Given the description of an element on the screen output the (x, y) to click on. 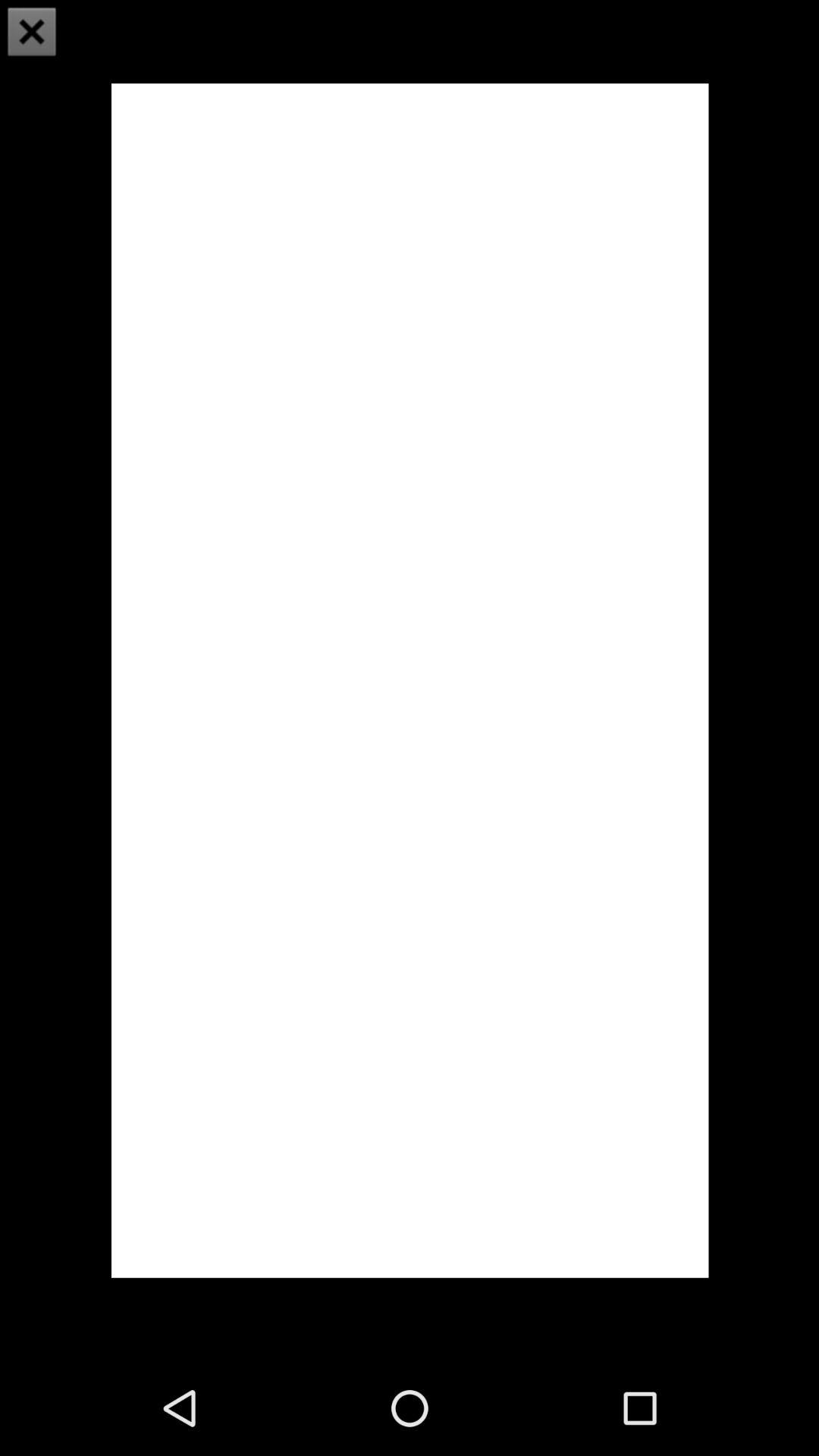
press icon at the center (409, 680)
